Given the description of an element on the screen output the (x, y) to click on. 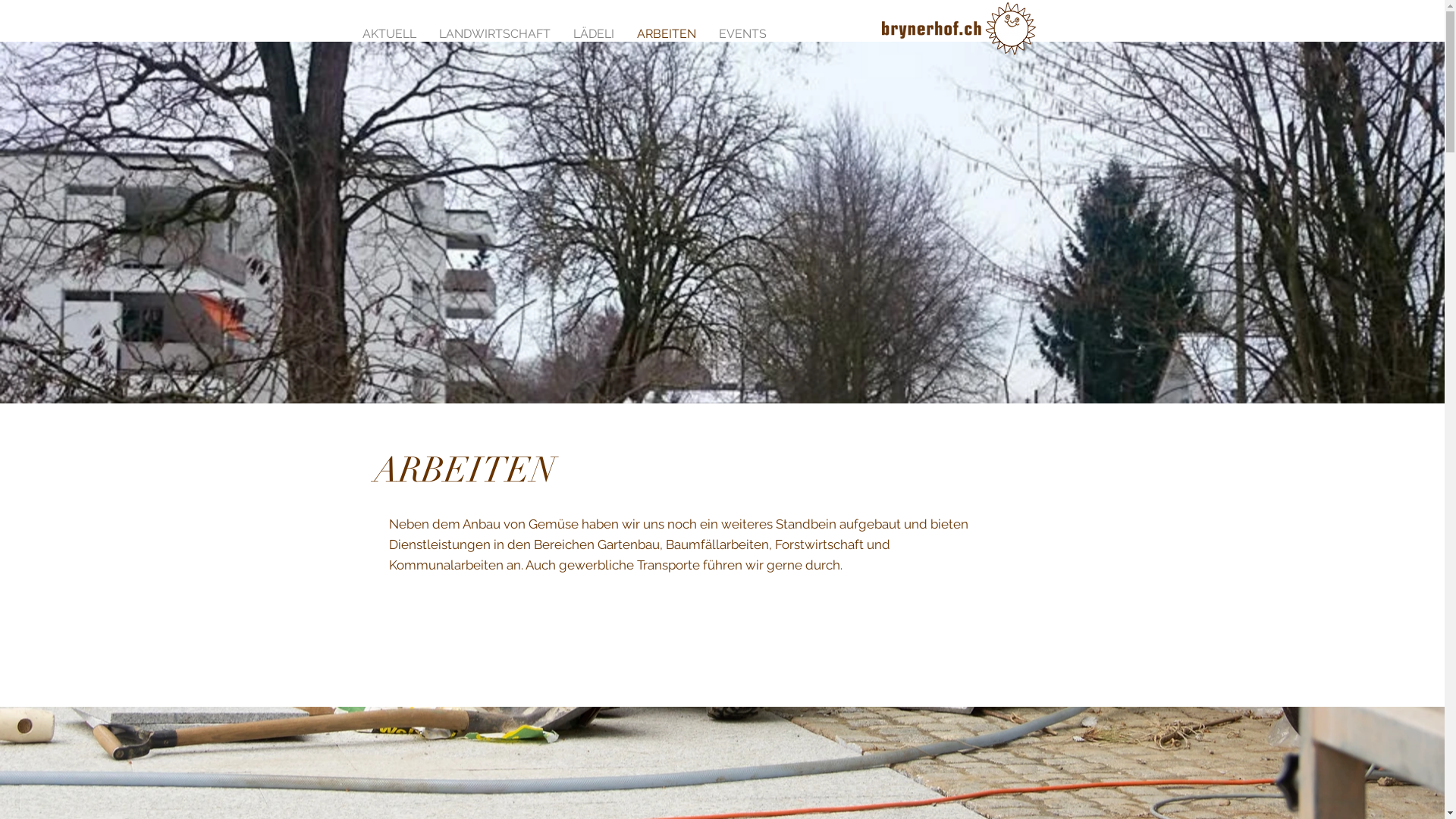
ARBEITEN Element type: text (665, 32)
EVENTS Element type: text (741, 32)
LANDWIRTSCHAFT Element type: text (494, 32)
AKTUELL Element type: text (388, 32)
